Given the description of an element on the screen output the (x, y) to click on. 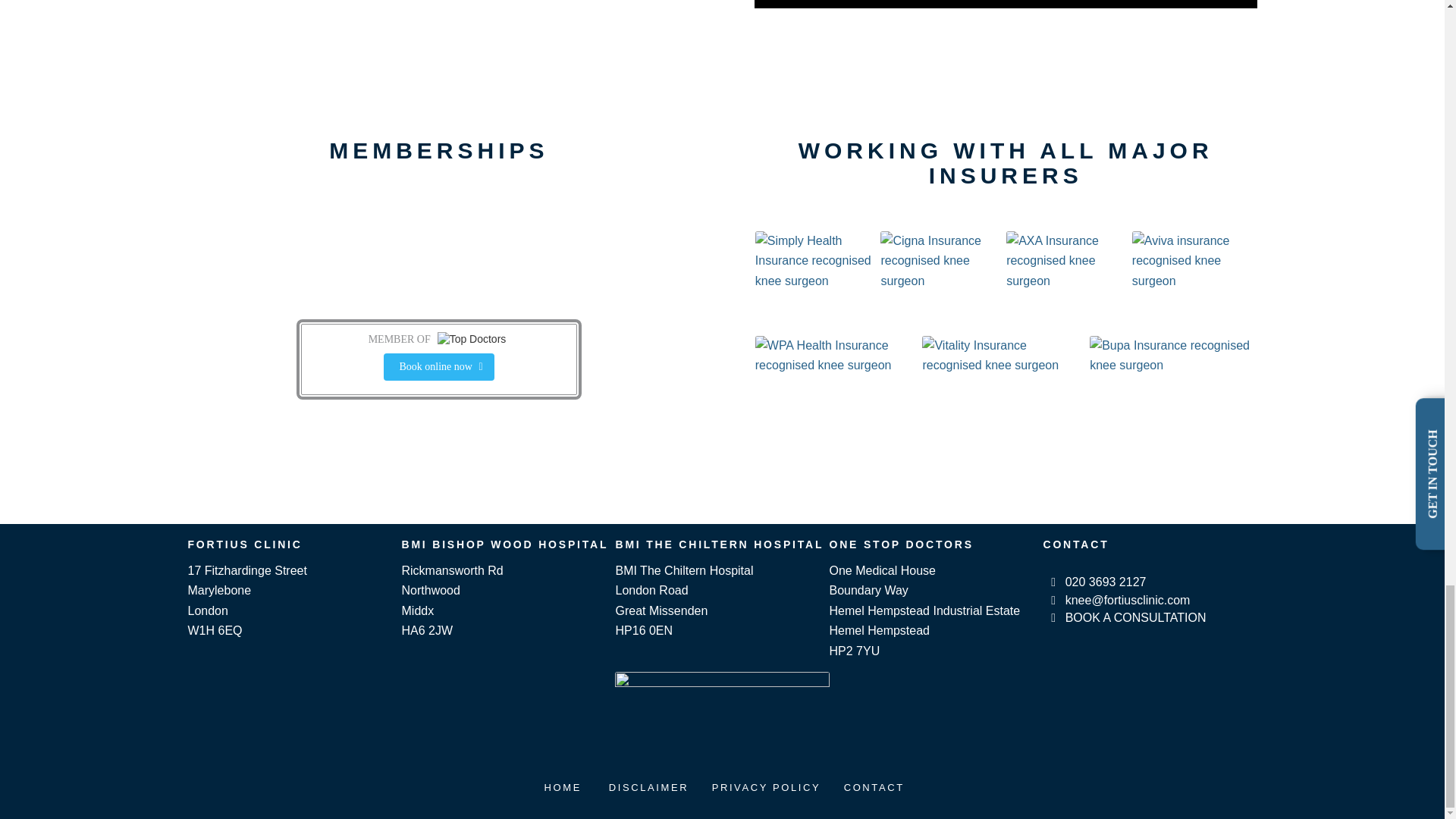
BOOK A CONSULTATION (1136, 617)
logo white (721, 717)
BOOK A CONSULTATION (1053, 617)
